Given the description of an element on the screen output the (x, y) to click on. 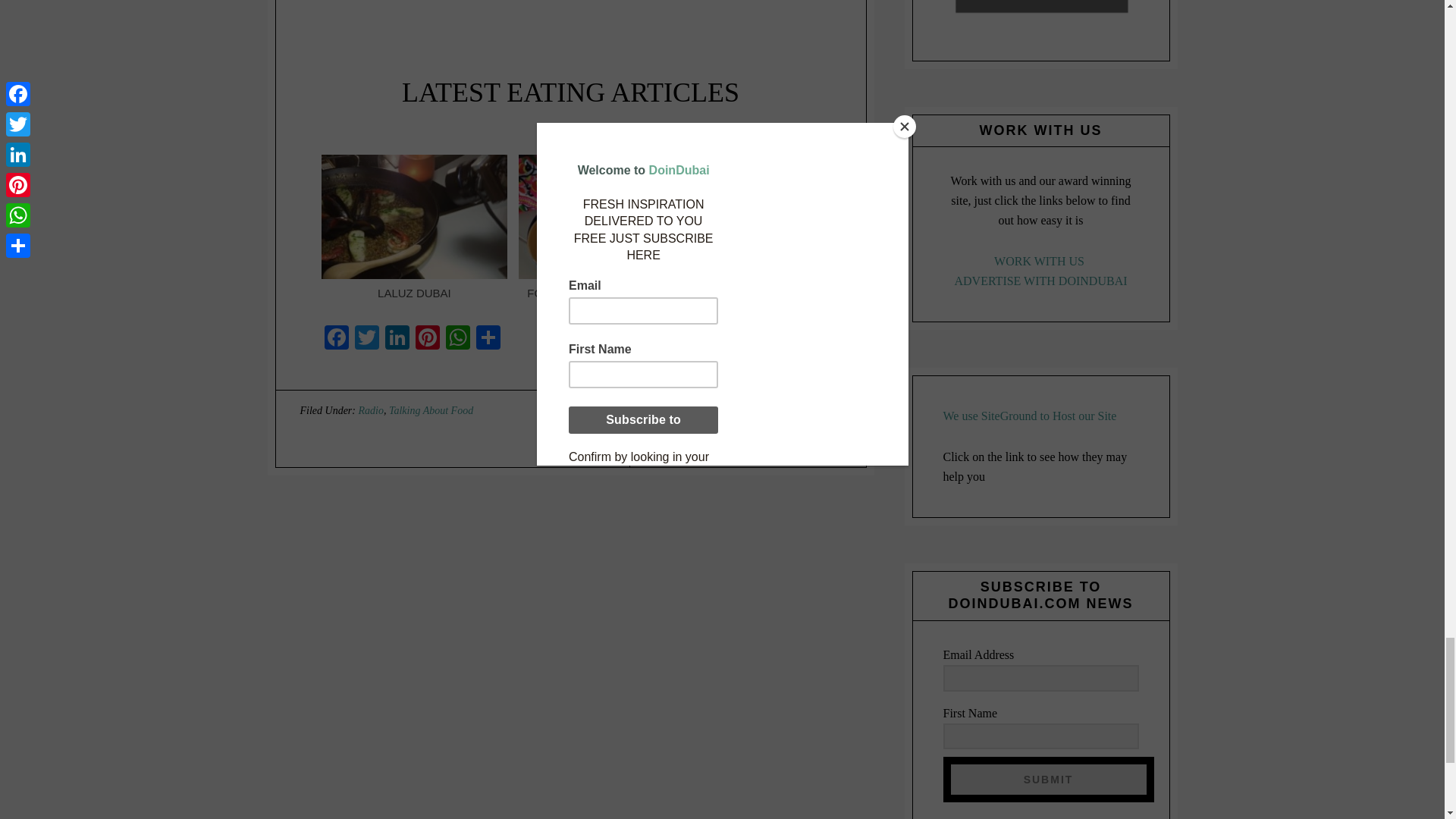
Next (813, 163)
Facebook (336, 338)
Twitter (366, 338)
Previous (798, 163)
